Given the description of an element on the screen output the (x, y) to click on. 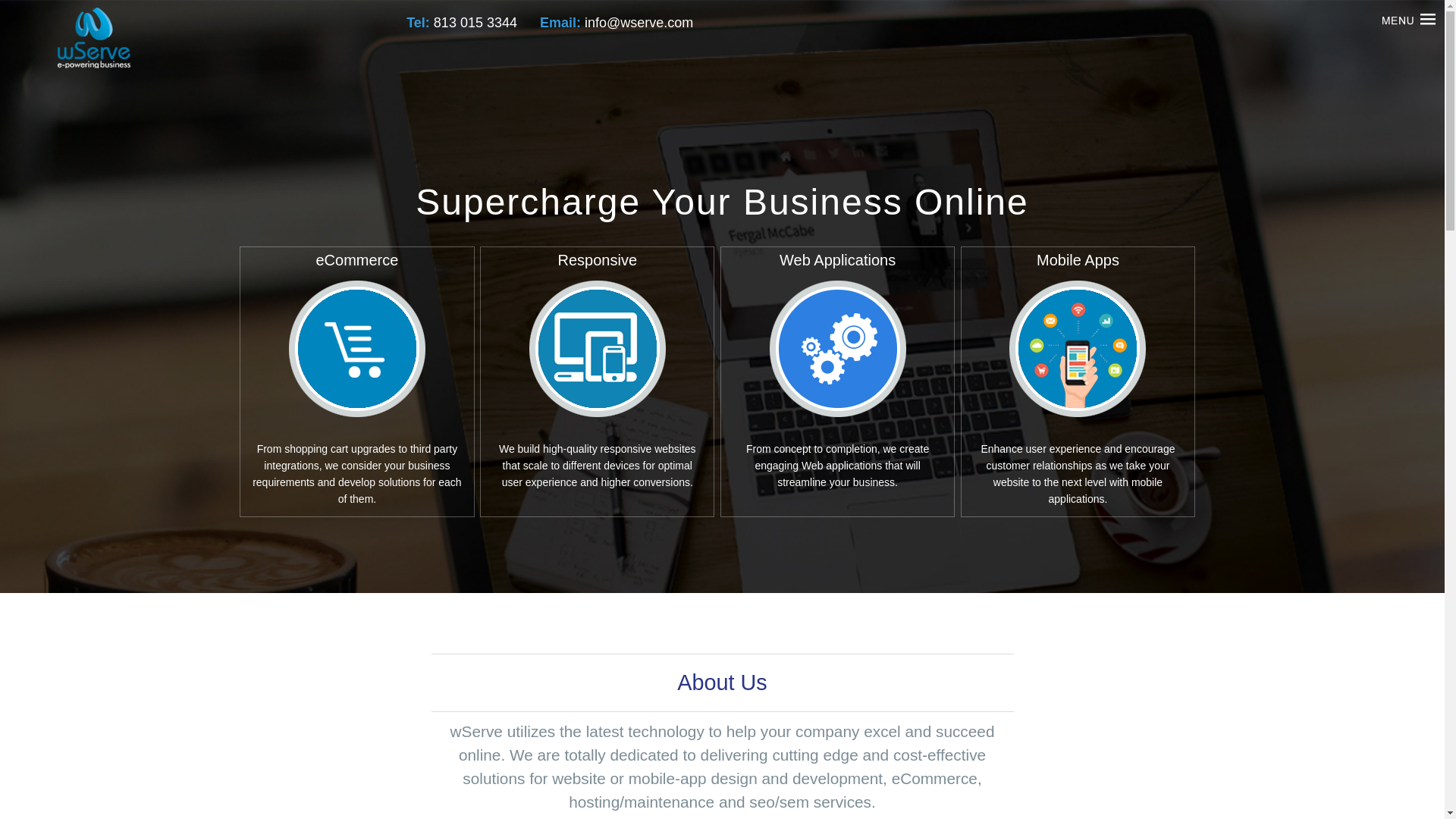
813 015 3344 (474, 22)
